Given the description of an element on the screen output the (x, y) to click on. 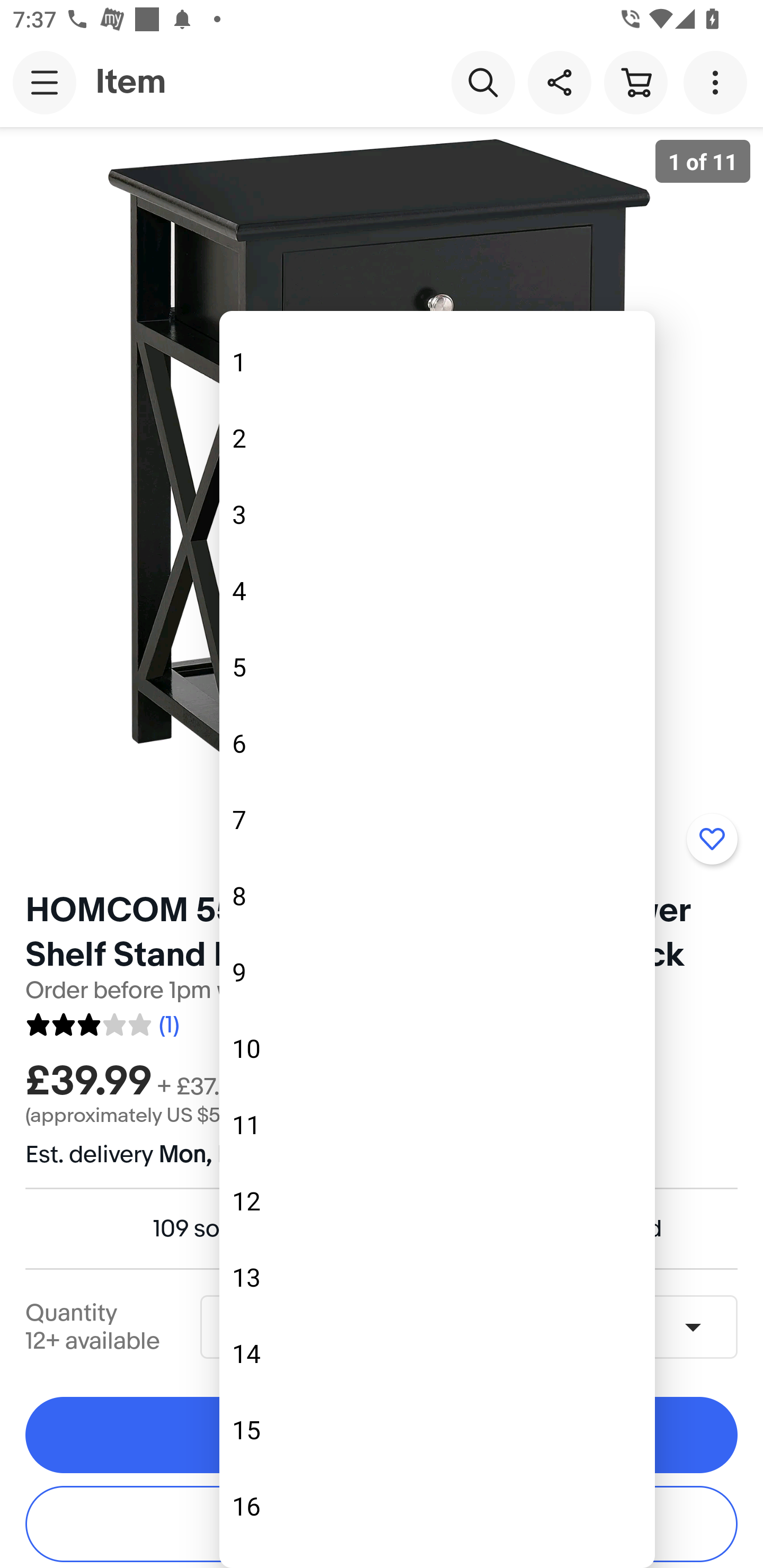
1 (436, 361)
2 (436, 437)
3 (436, 513)
4 (436, 589)
5 (436, 666)
6 (436, 742)
7 (436, 818)
8 (436, 895)
9 (436, 971)
10 (436, 1047)
11 (436, 1124)
12 (436, 1200)
13 (436, 1276)
14 (436, 1353)
15 (436, 1429)
16 (436, 1505)
